Given the description of an element on the screen output the (x, y) to click on. 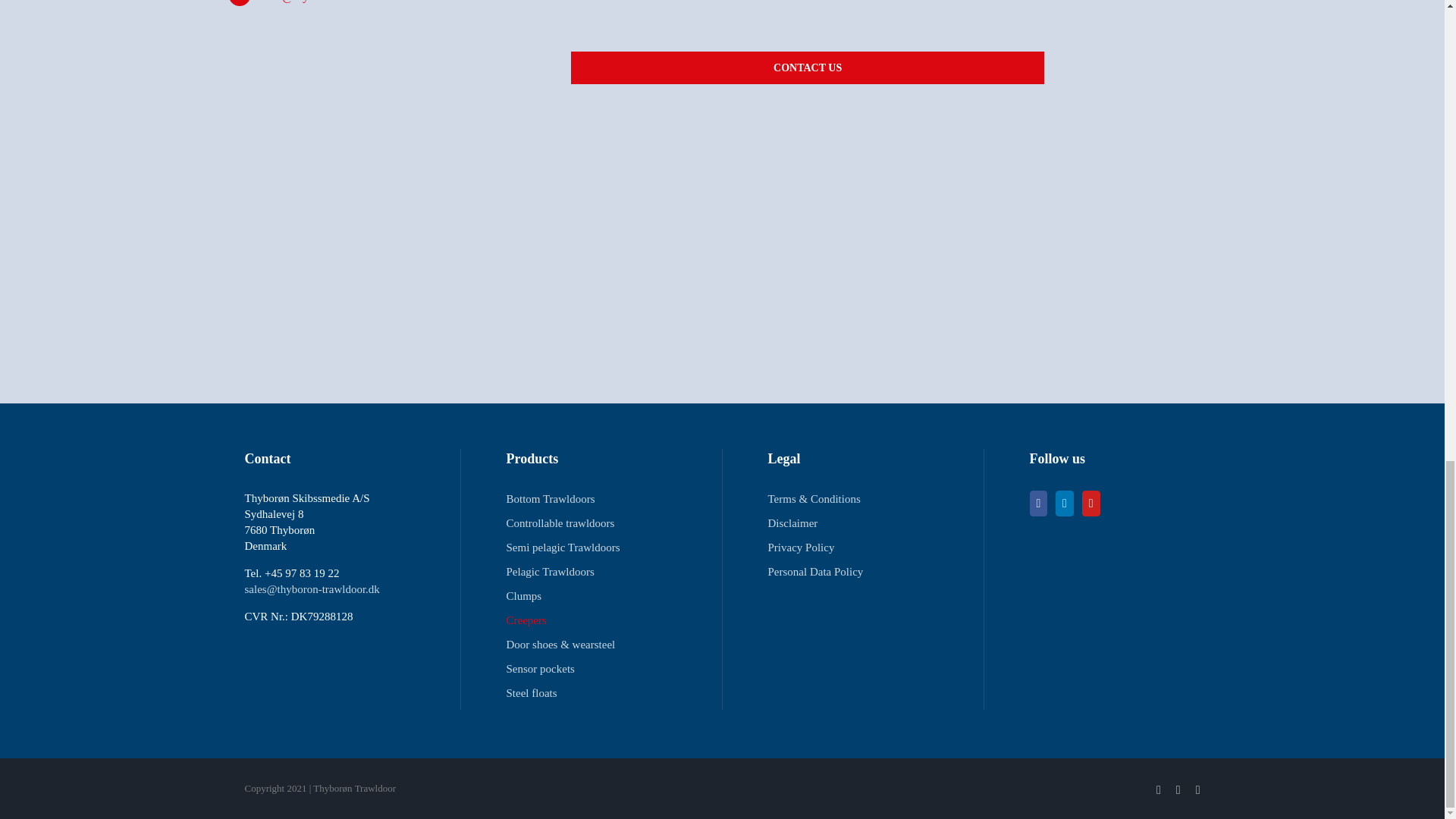
CONTACT US (806, 67)
CONTACT US (806, 48)
